Given the description of an element on the screen output the (x, y) to click on. 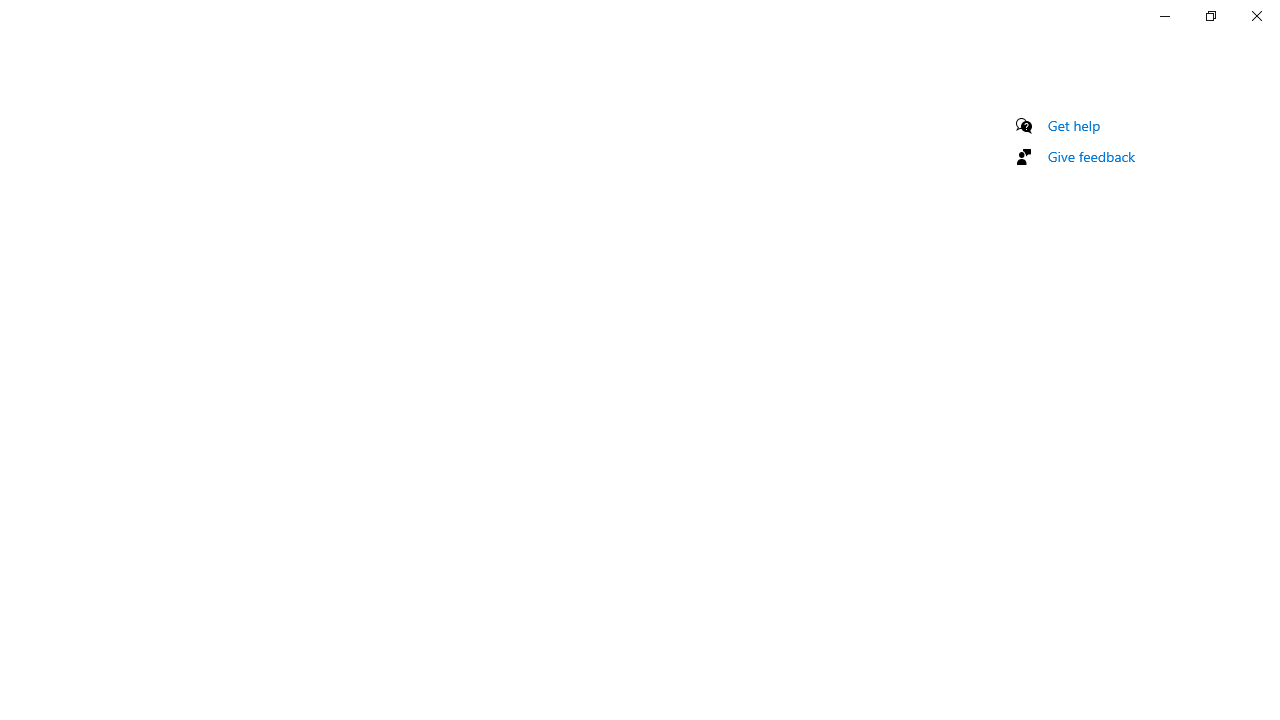
Get help (1074, 125)
Minimize Settings (1164, 15)
Close Settings (1256, 15)
Give feedback (1091, 156)
Restore Settings (1210, 15)
